Given the description of an element on the screen output the (x, y) to click on. 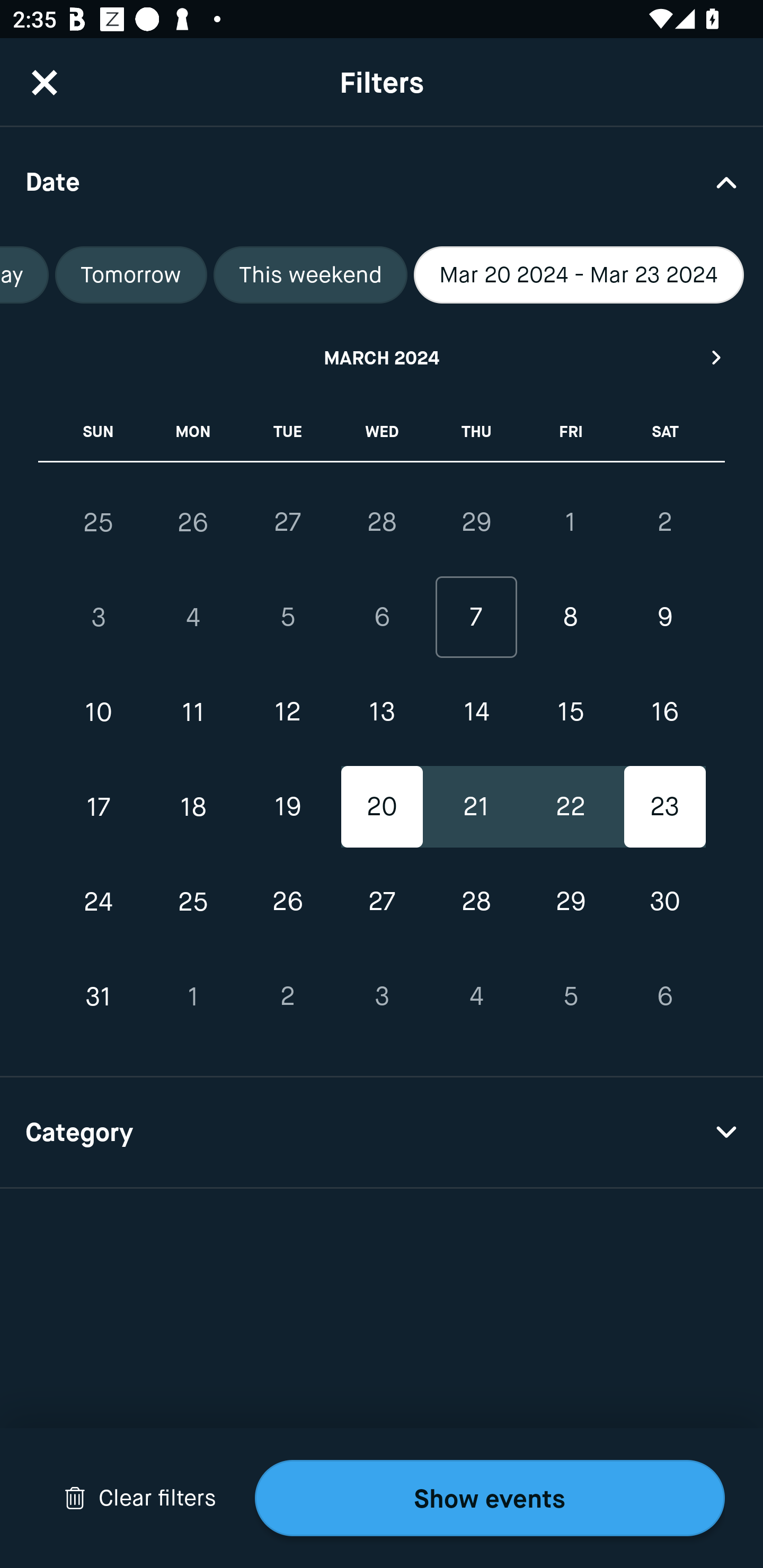
CloseButton (44, 82)
Date Drop Down Arrow (381, 181)
Tomorrow (130, 274)
This weekend (310, 274)
Mar 20 2024 - Mar 23 2024 (578, 274)
Next (717, 357)
25 (98, 522)
26 (192, 522)
27 (287, 522)
28 (381, 522)
29 (475, 522)
1 (570, 522)
2 (664, 522)
3 (98, 617)
4 (192, 617)
5 (287, 617)
6 (381, 617)
7 (475, 617)
8 (570, 617)
9 (664, 617)
10 (98, 711)
11 (192, 711)
12 (287, 711)
13 (381, 711)
14 (475, 711)
15 (570, 711)
16 (664, 711)
17 (98, 806)
18 (192, 806)
19 (287, 806)
20 (381, 806)
21 (475, 806)
22 (570, 806)
23 (664, 806)
24 (98, 901)
25 (192, 901)
26 (287, 901)
27 (381, 901)
28 (475, 901)
29 (570, 901)
30 (664, 901)
31 (98, 996)
1 (192, 996)
2 (287, 996)
3 (381, 996)
4 (475, 996)
5 (570, 996)
6 (664, 996)
Category Drop Down Arrow (381, 1132)
Drop Down Arrow Clear filters (139, 1497)
Show events (489, 1497)
